Given the description of an element on the screen output the (x, y) to click on. 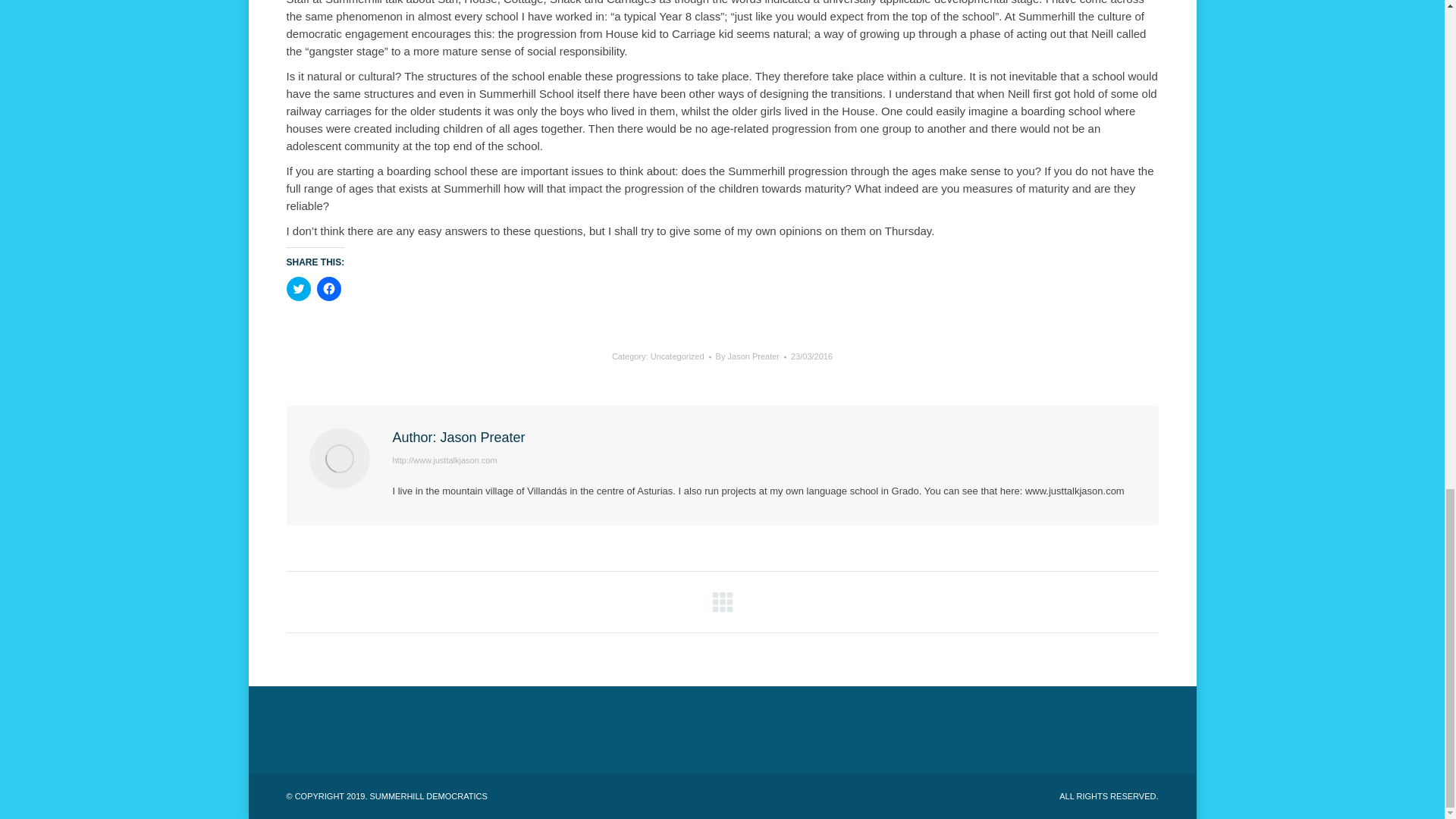
By Jason Preater (751, 356)
View all posts by Jason Preater (751, 356)
Uncategorized (677, 356)
Click to share on Facebook (328, 288)
Click to share on Twitter (298, 288)
10:17 pm (811, 356)
